Given the description of an element on the screen output the (x, y) to click on. 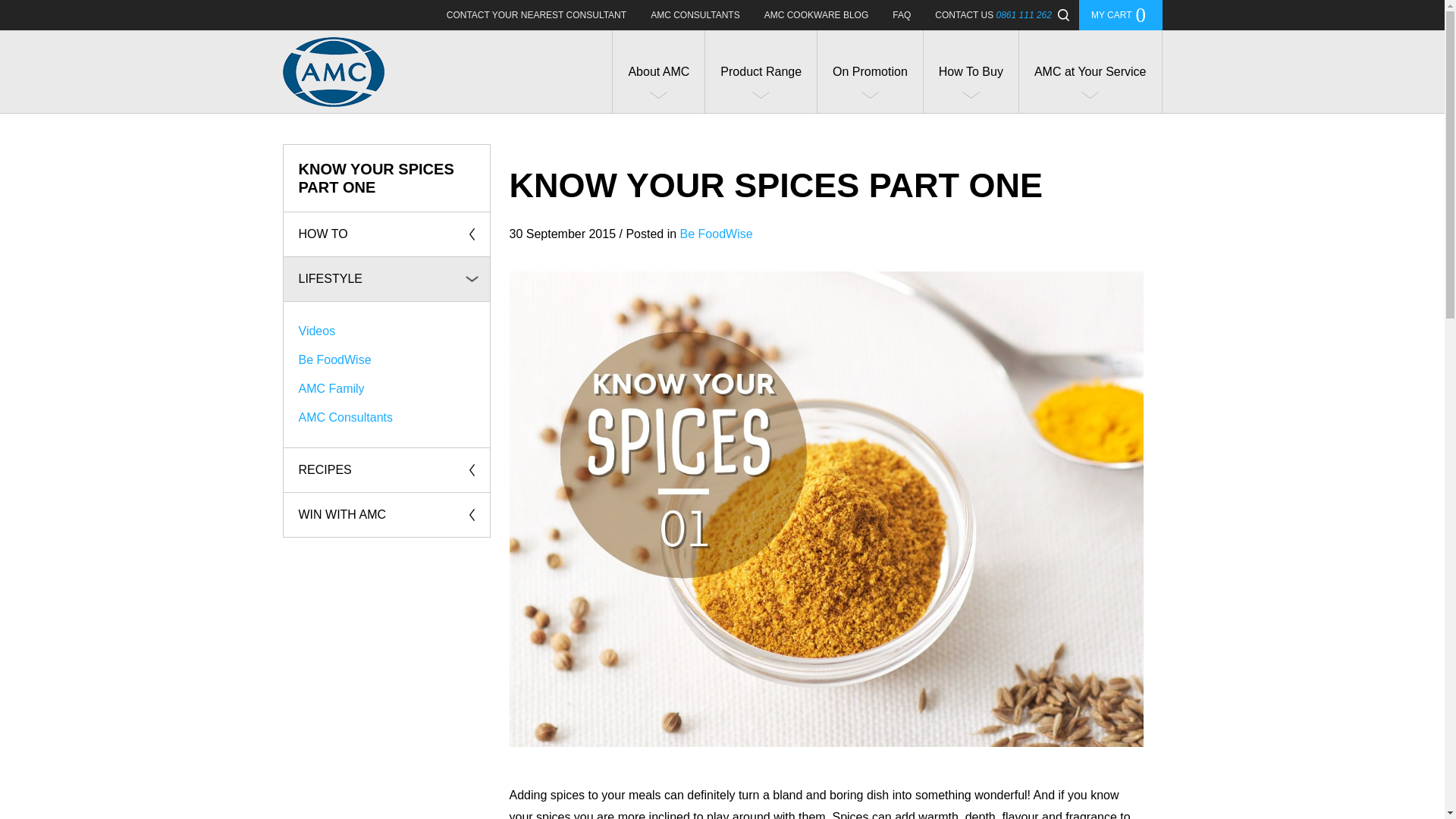
AMC (333, 71)
How To Buy (970, 71)
FAQ (901, 15)
AMC CONSULTANTS (695, 15)
CONTACT US 0861 111 262 (1119, 15)
AMC at Your Service (993, 15)
AMC COOKWARE BLOG (1090, 71)
CONTACT YOUR NEAREST CONSULTANT (816, 15)
